Given the description of an element on the screen output the (x, y) to click on. 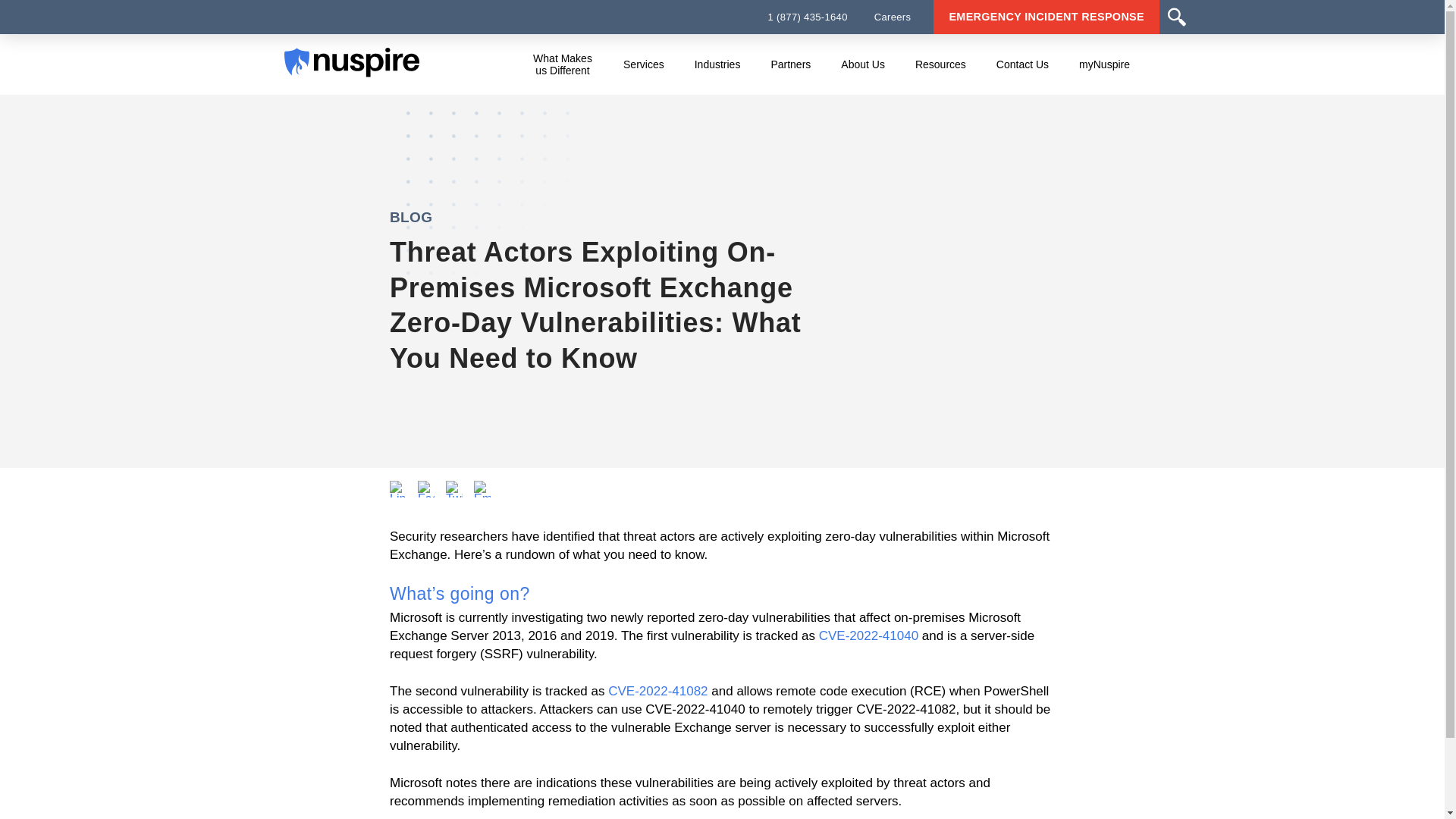
Careers (892, 17)
Partners (790, 64)
Twitter (454, 488)
Email (482, 488)
Services (643, 64)
Facebook (425, 488)
Industries (717, 64)
About Us (863, 64)
What Makes us Different (562, 64)
LinkedIn (398, 488)
EMERGENCY INCIDENT RESPONSE (1045, 17)
